Given the description of an element on the screen output the (x, y) to click on. 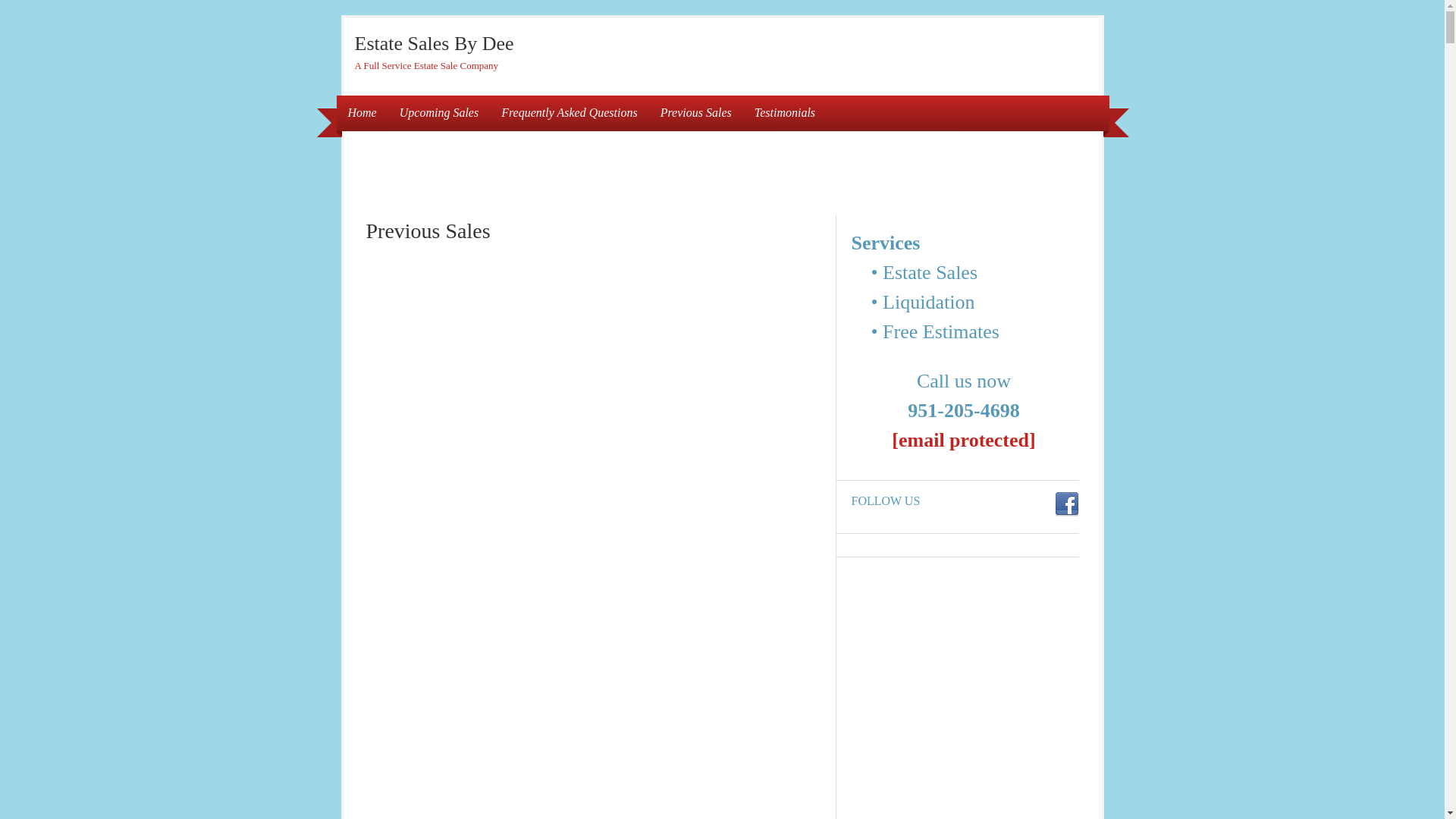
Previous Sales (695, 113)
Home (362, 113)
Estate Sales By Dee - A Full Service Estate Sale Company (434, 43)
Frequently Asked Questions (569, 113)
Testimonials (784, 113)
Upcoming Sales (438, 113)
Estate Sales By Dee (434, 43)
Follow me on Facebook (1066, 504)
